Given the description of an element on the screen output the (x, y) to click on. 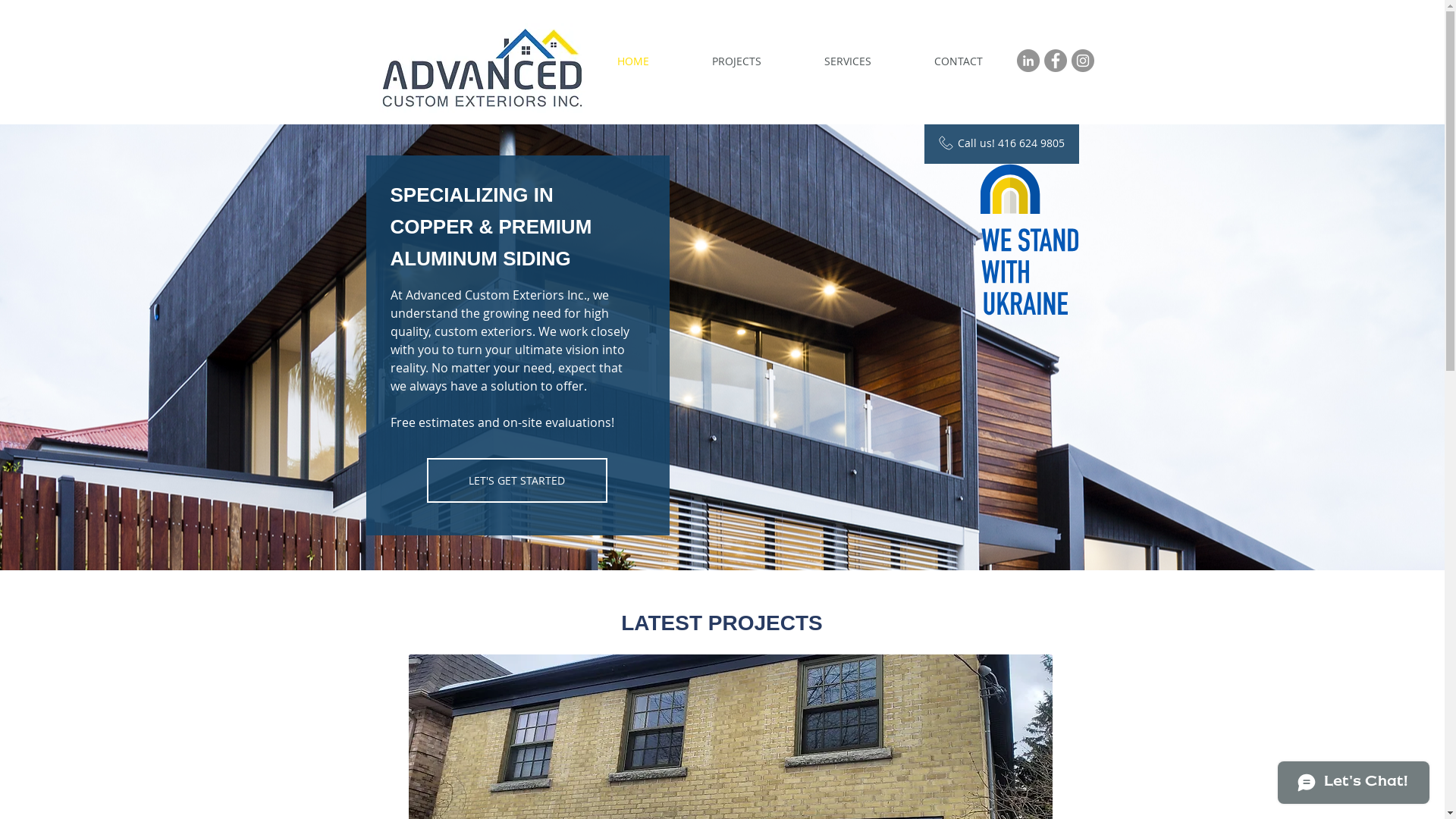
HOME Element type: text (632, 61)
LATEST PROJECTS Element type: text (721, 622)
LET'S GET STARTED Element type: text (516, 480)
CONTACT Element type: text (957, 61)
PROJECTS Element type: text (736, 61)
SERVICES Element type: text (848, 61)
